Given the description of an element on the screen output the (x, y) to click on. 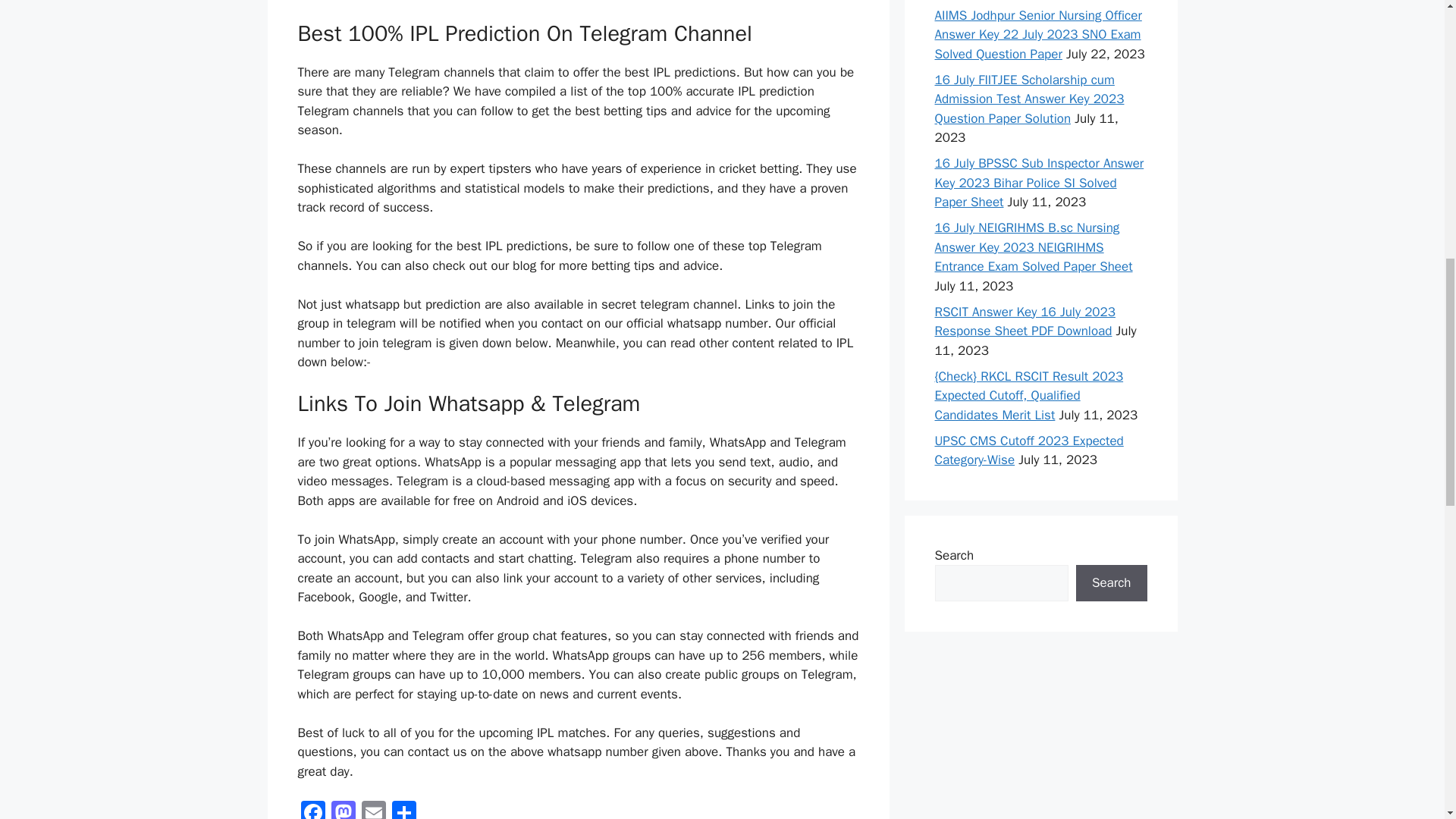
Facebook (312, 809)
Facebook (312, 809)
Mastodon (342, 809)
Mastodon (342, 809)
Email (373, 809)
Email (373, 809)
